Given the description of an element on the screen output the (x, y) to click on. 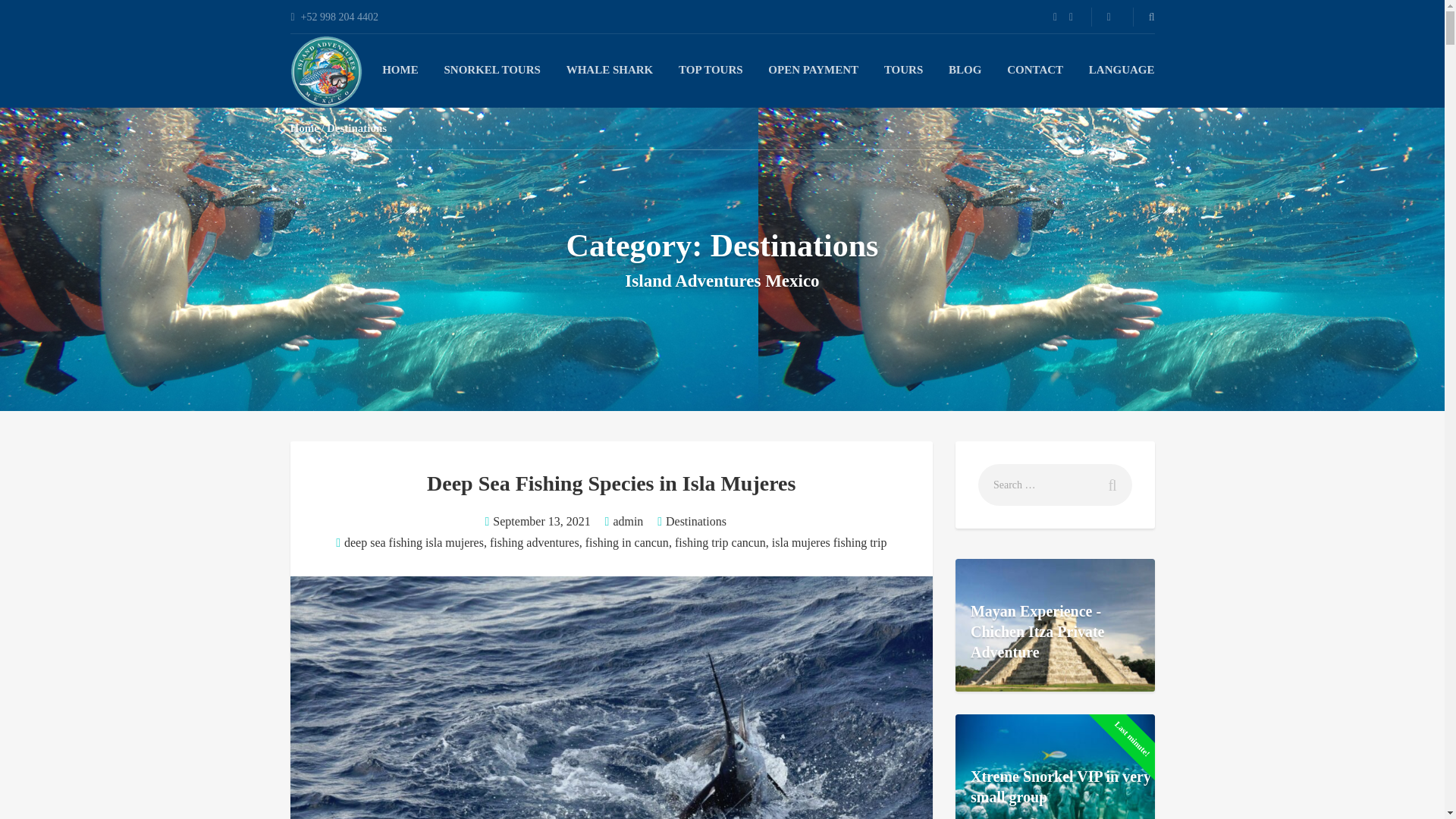
OPEN PAYMENT (813, 69)
fishing adventures (534, 542)
Destinations (695, 521)
fishing in cancun (626, 542)
LANGUAGE (1121, 69)
WHALE SHARK (609, 69)
TOURS (903, 69)
SNORKEL TOURS (492, 69)
CONTACT (1034, 69)
deep sea fishing isla mujeres (413, 542)
